Given the description of an element on the screen output the (x, y) to click on. 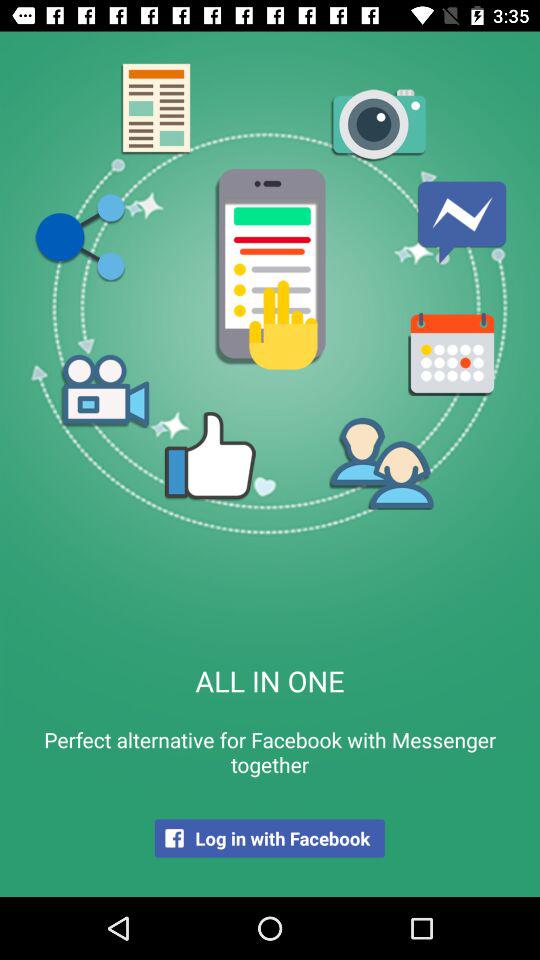
turn off log in with (269, 838)
